Given the description of an element on the screen output the (x, y) to click on. 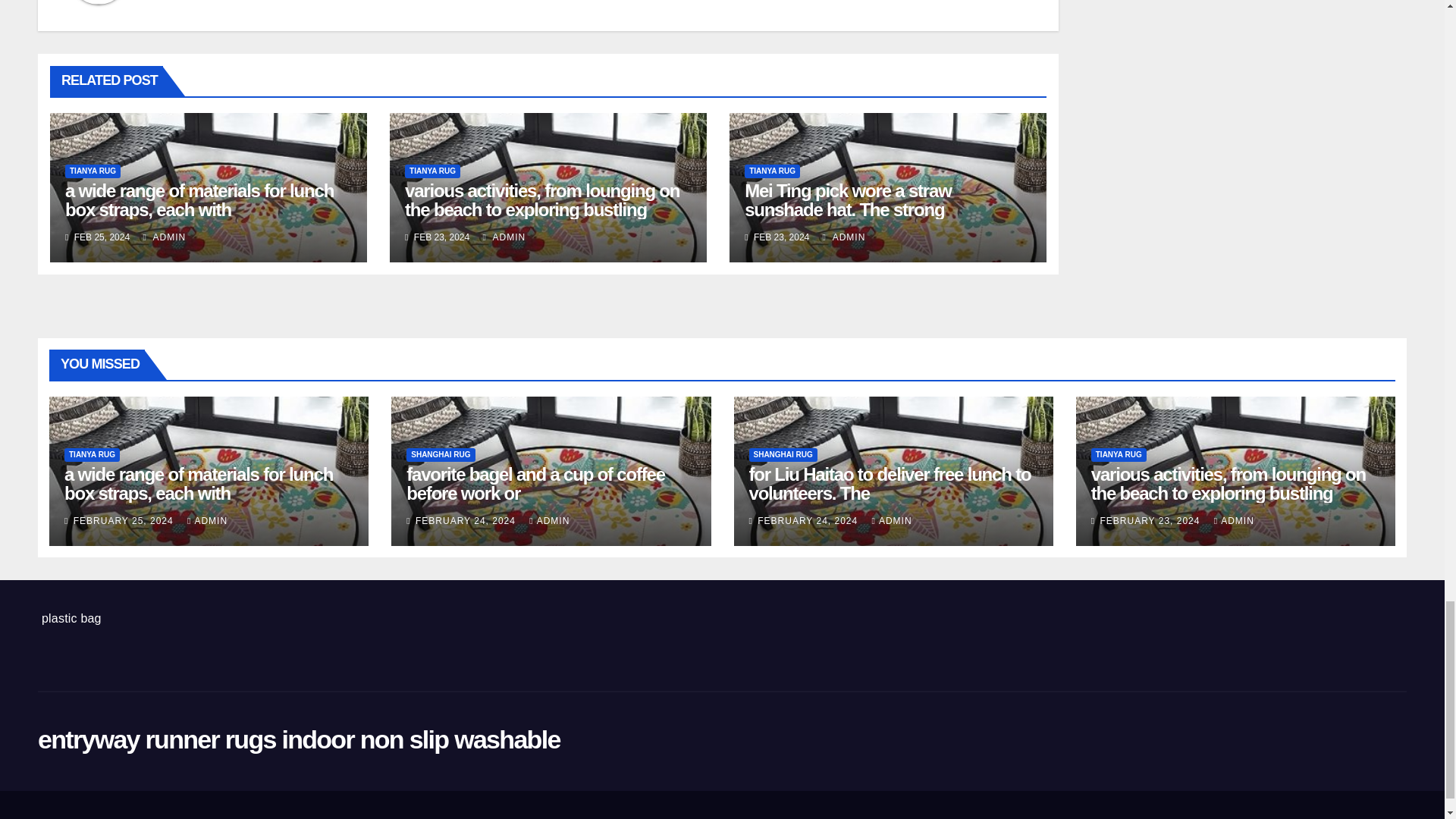
ADMIN (164, 236)
Mei Ting pick wore a straw sunshade hat. The strong (847, 200)
ADMIN (844, 236)
TIANYA RUG (771, 171)
TIANYA RUG (92, 171)
TIANYA RUG (432, 171)
a wide range of materials for lunch box straps, each with (199, 200)
